Given the description of an element on the screen output the (x, y) to click on. 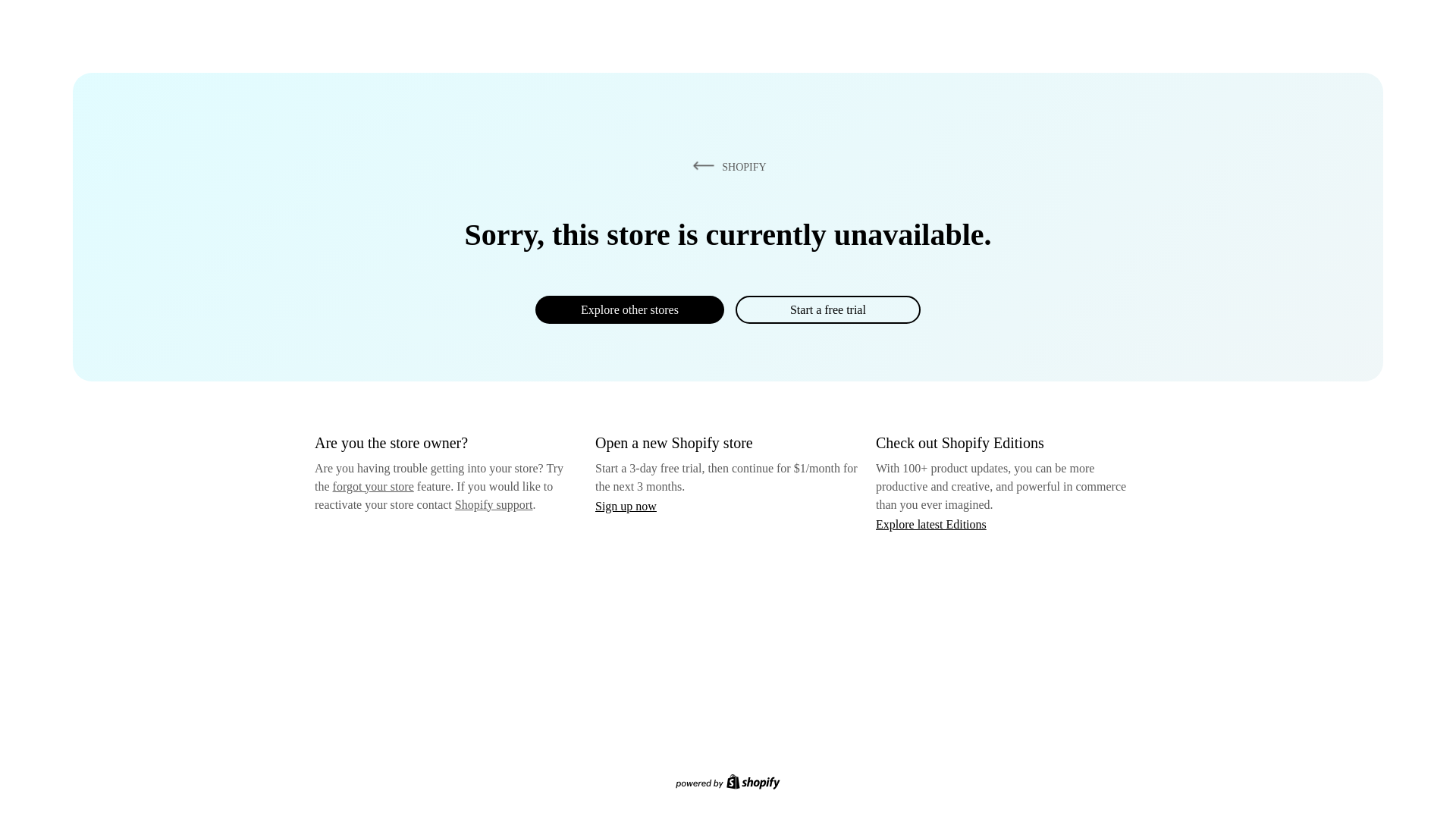
SHOPIFY (726, 166)
Start a free trial (827, 309)
Sign up now (625, 505)
Explore latest Editions (931, 523)
forgot your store (373, 486)
Explore other stores (629, 309)
Shopify support (493, 504)
